Given the description of an element on the screen output the (x, y) to click on. 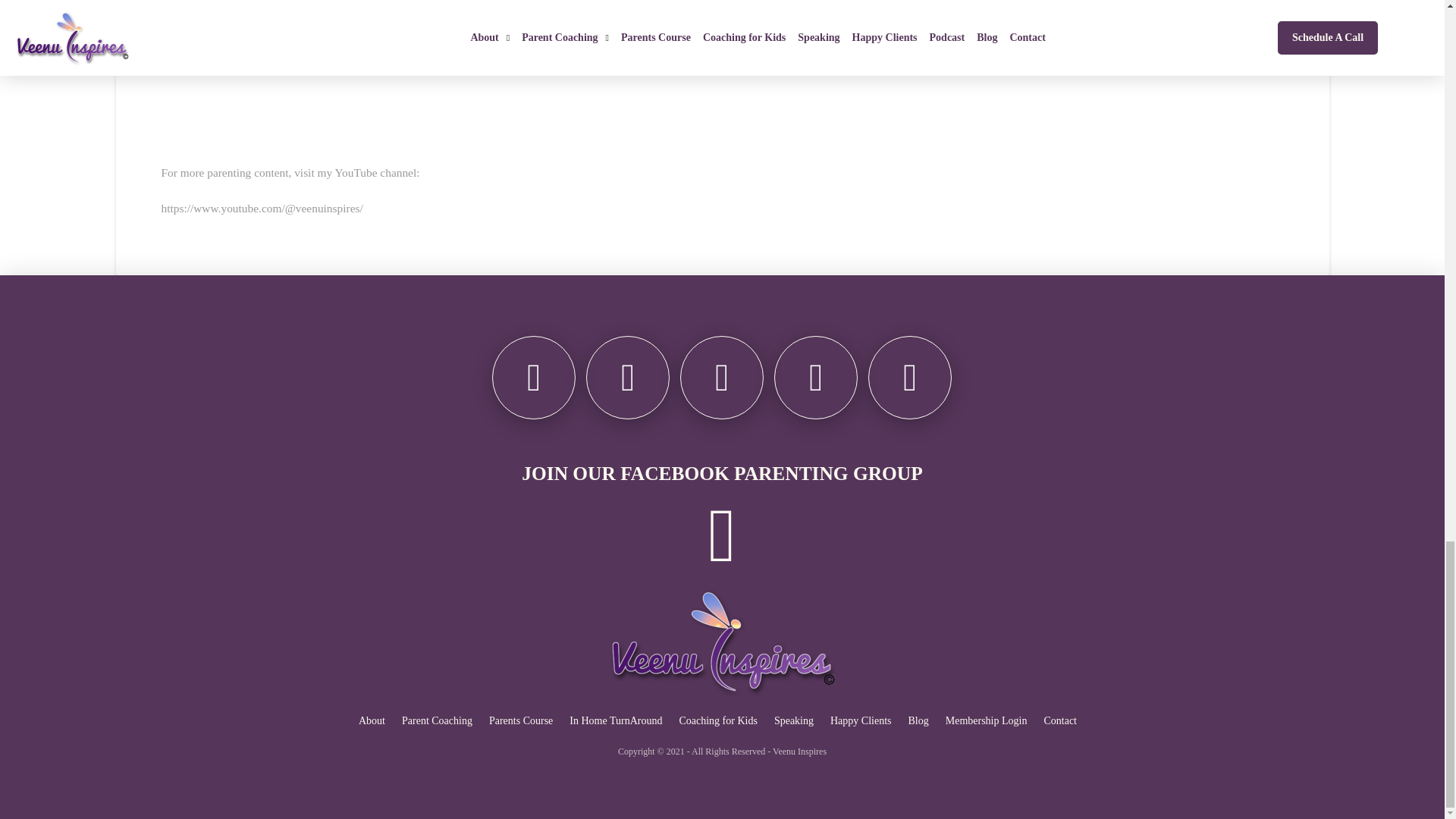
Parent Coaching (436, 720)
Coaching for Kids (717, 720)
In Home TurnAround (615, 720)
Membership Login (986, 720)
About (371, 720)
Parents Course (520, 720)
Happy Clients (861, 720)
Blog (917, 720)
Speaking (793, 720)
Contact (1059, 720)
